Given the description of an element on the screen output the (x, y) to click on. 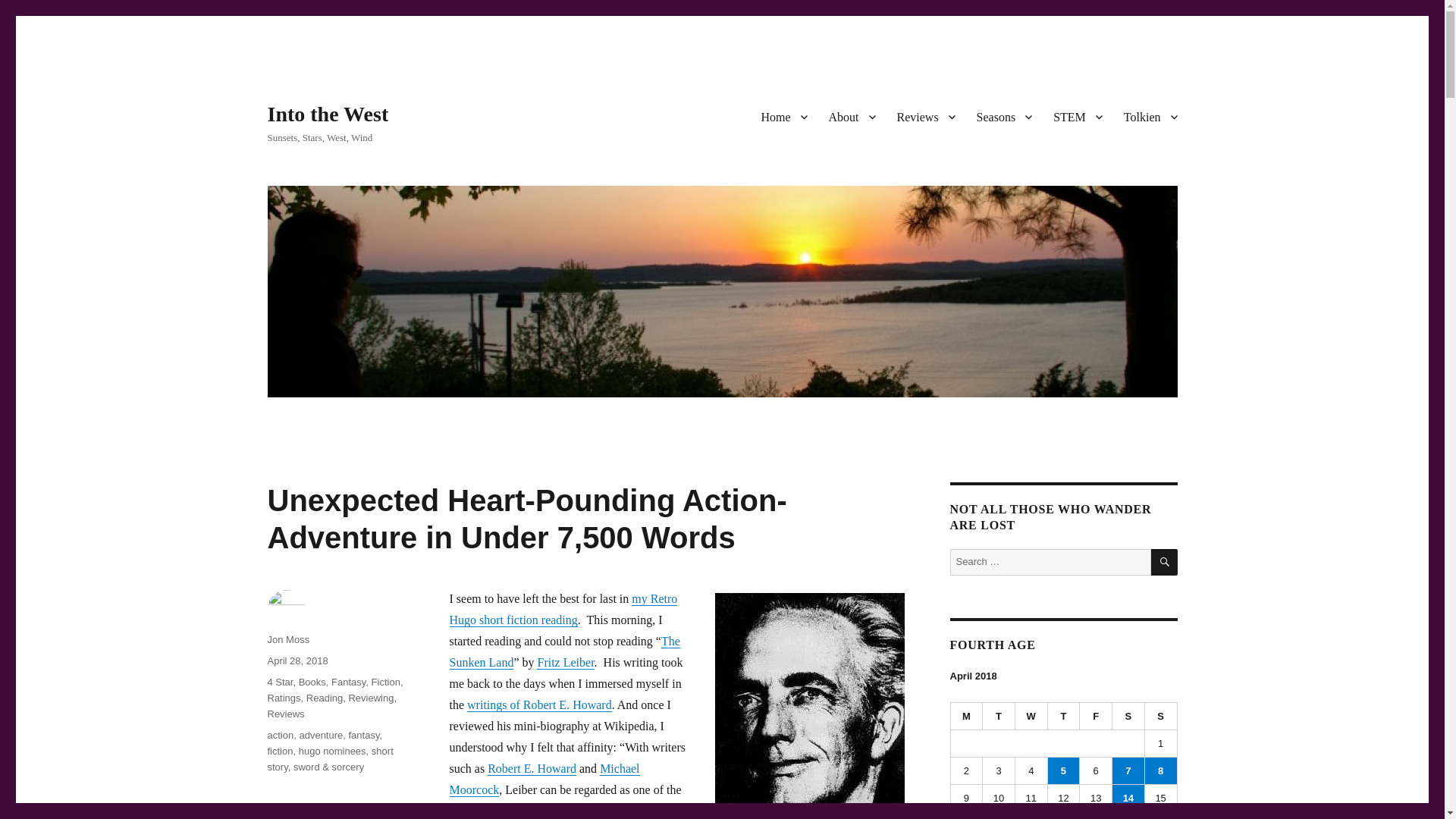
Robert E. Howard (531, 768)
Sunday (1160, 716)
About (850, 116)
Sword and sorcery (541, 810)
Home (782, 116)
Saturday (1128, 716)
Michael Moorcock (543, 779)
Reviews (925, 116)
Friday (1096, 716)
Into the West (327, 114)
Thursday (1064, 716)
Monday (967, 716)
Tuesday (998, 716)
Wednesday (1031, 716)
Seasons (1004, 116)
